Given the description of an element on the screen output the (x, y) to click on. 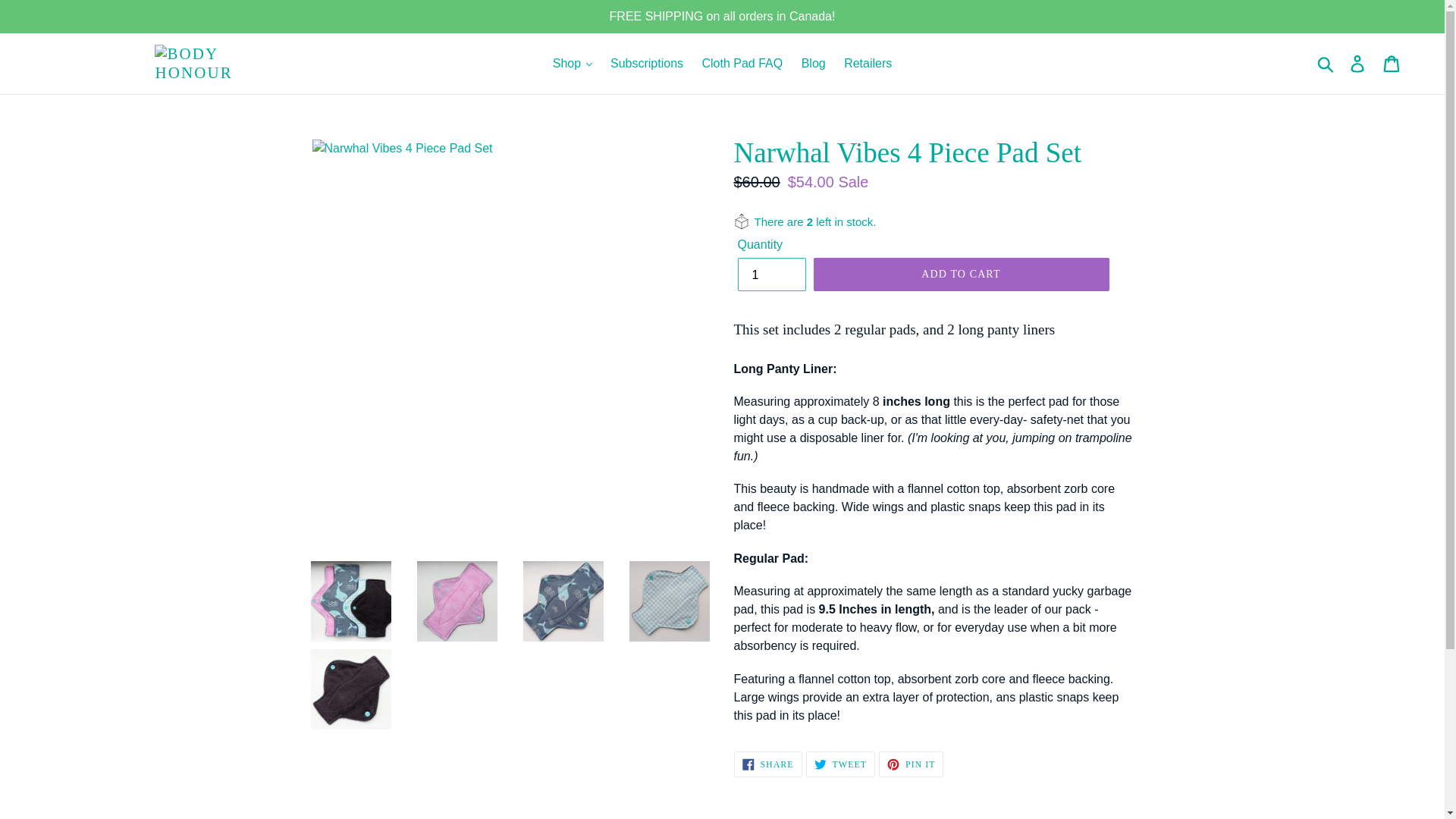
Subscriptions (646, 63)
Retailers (867, 63)
Log in (1357, 63)
1 (770, 274)
Cloth Pad FAQ (742, 63)
Cart (1392, 63)
Blog (812, 63)
Submit (1326, 63)
